Given the description of an element on the screen output the (x, y) to click on. 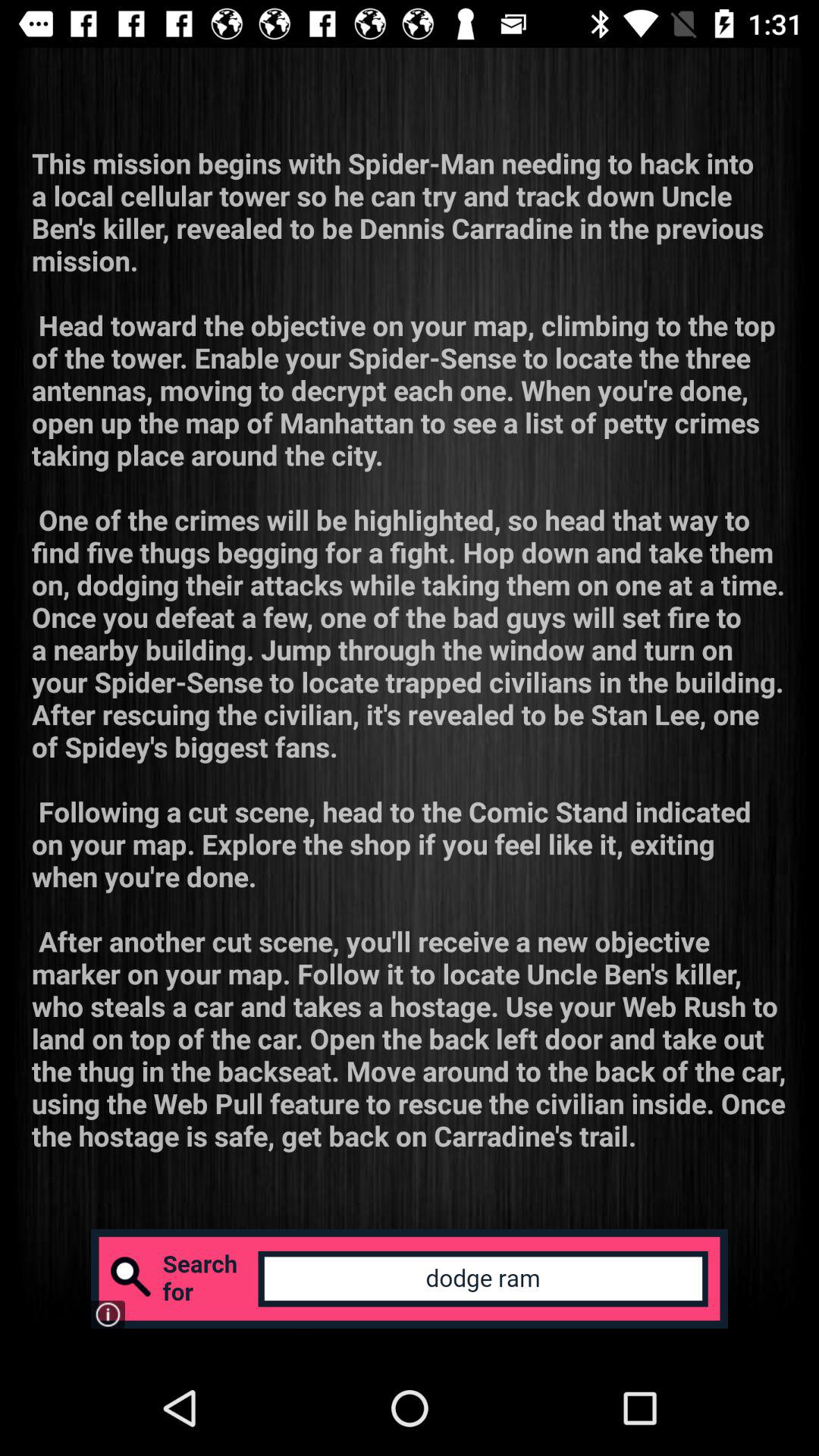
go to advertisement page (409, 1278)
